Given the description of an element on the screen output the (x, y) to click on. 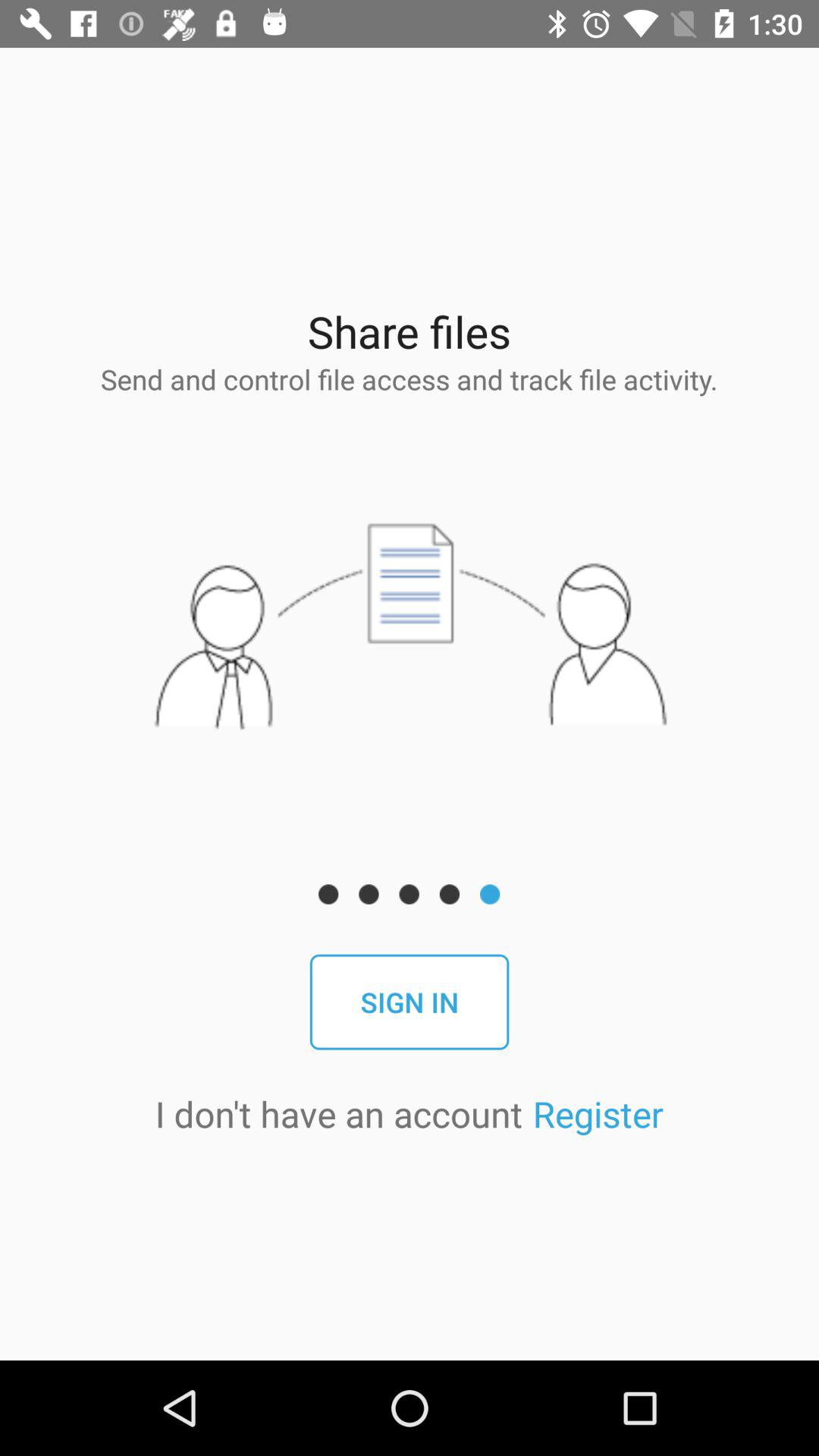
press the icon to the right of i don t (597, 1113)
